Given the description of an element on the screen output the (x, y) to click on. 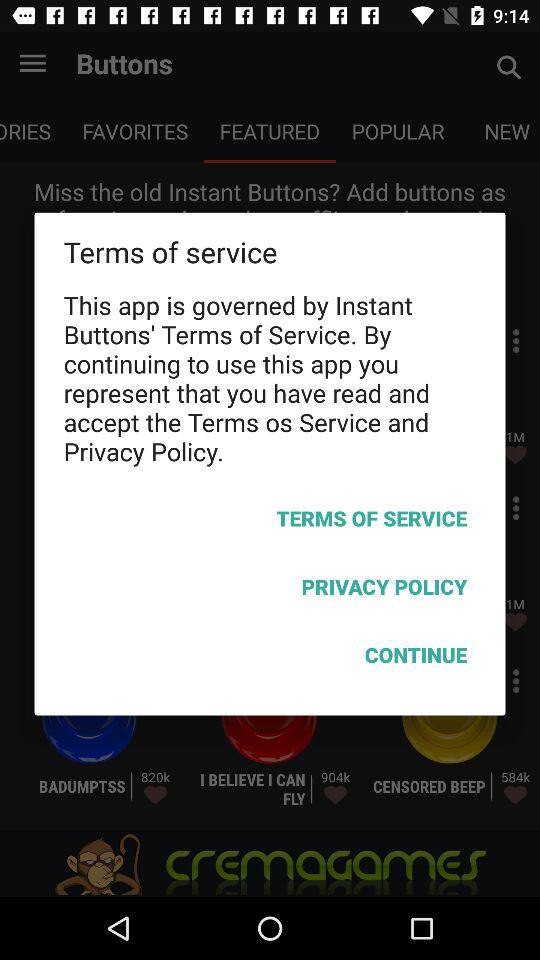
press the continue icon (269, 658)
